Given the description of an element on the screen output the (x, y) to click on. 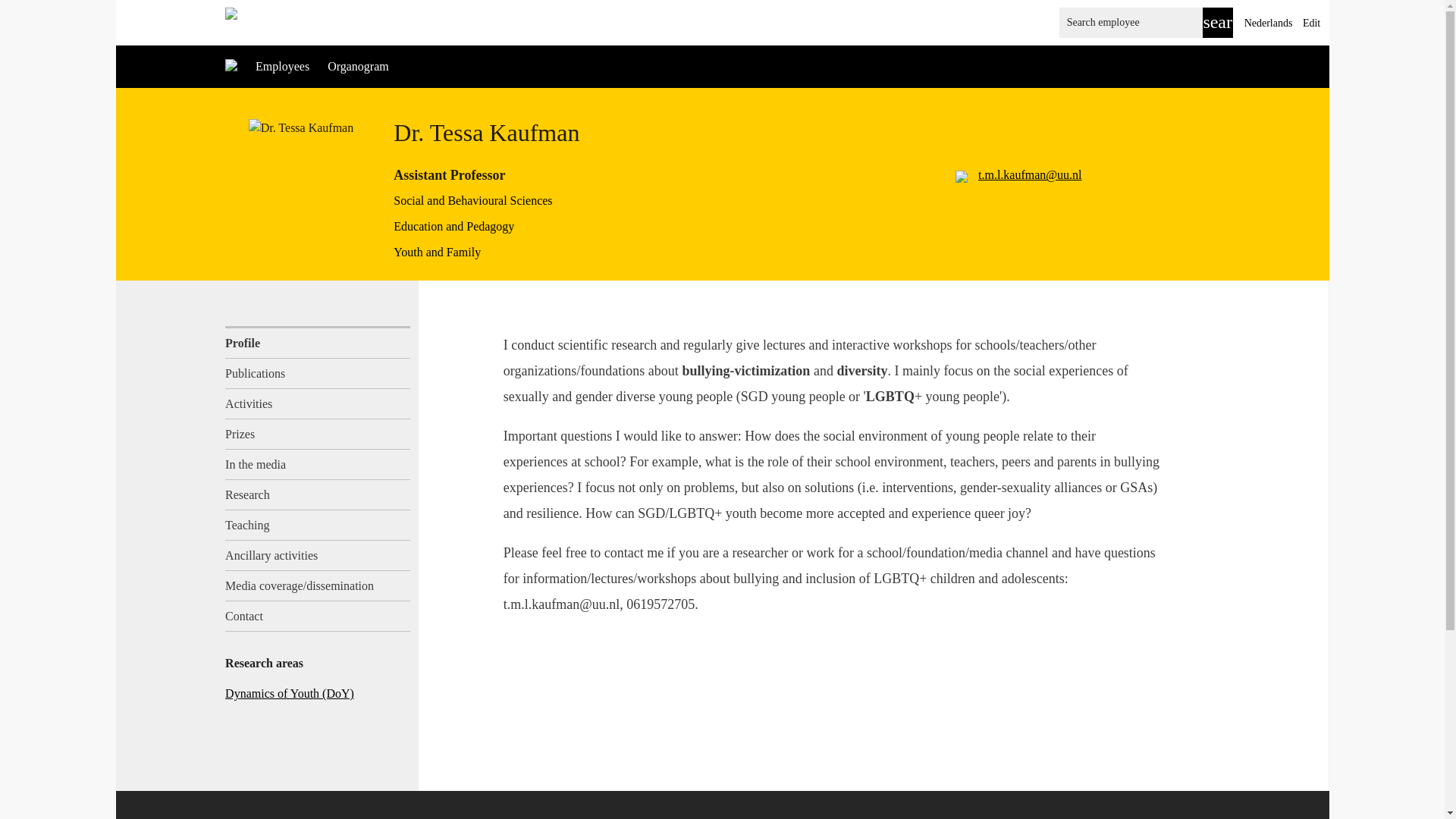
Dr. Tessa Kaufman (300, 127)
Organogram (357, 65)
Teaching (317, 525)
Ancillary activities (317, 555)
Activities (317, 404)
Research (317, 494)
Social and Behavioural Sciences (472, 200)
Education and Pedagogy (453, 226)
Youth and Family (436, 251)
In the media (317, 464)
